Given the description of an element on the screen output the (x, y) to click on. 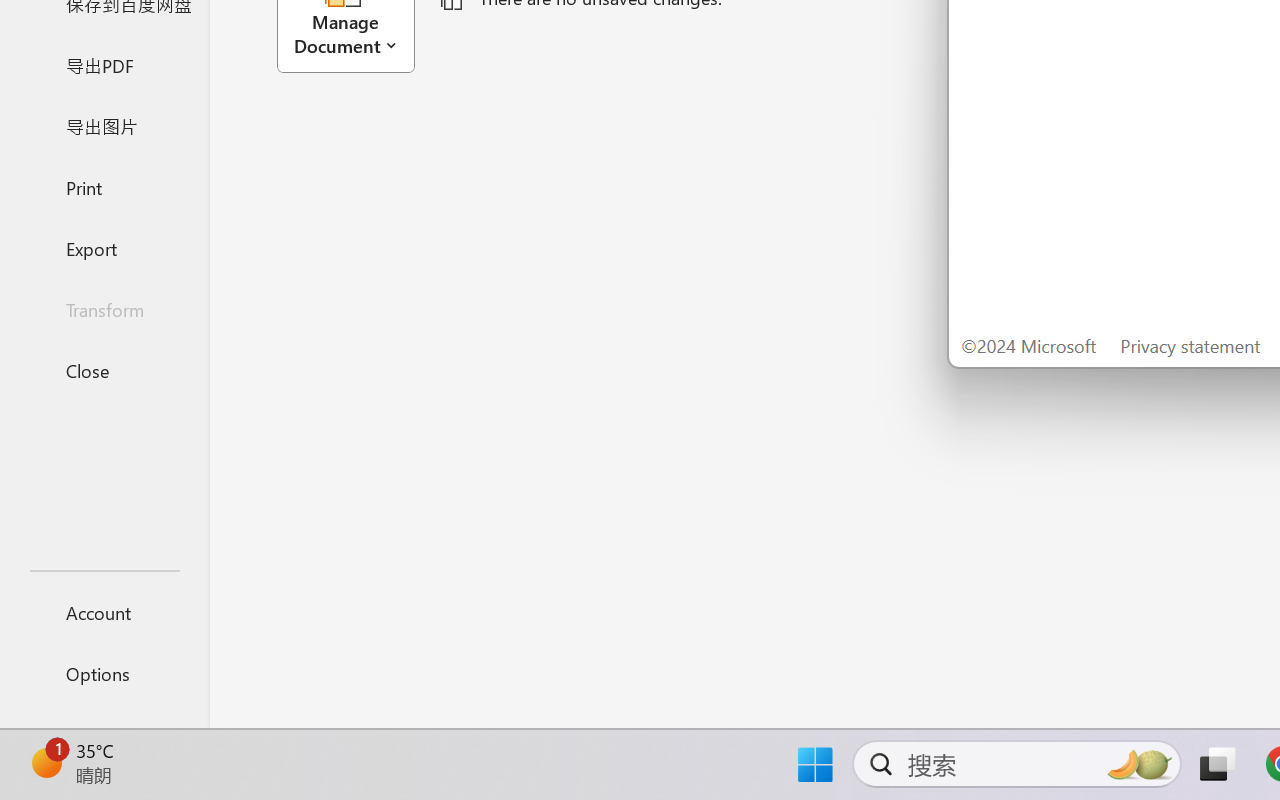
Transform (104, 309)
